Given the description of an element on the screen output the (x, y) to click on. 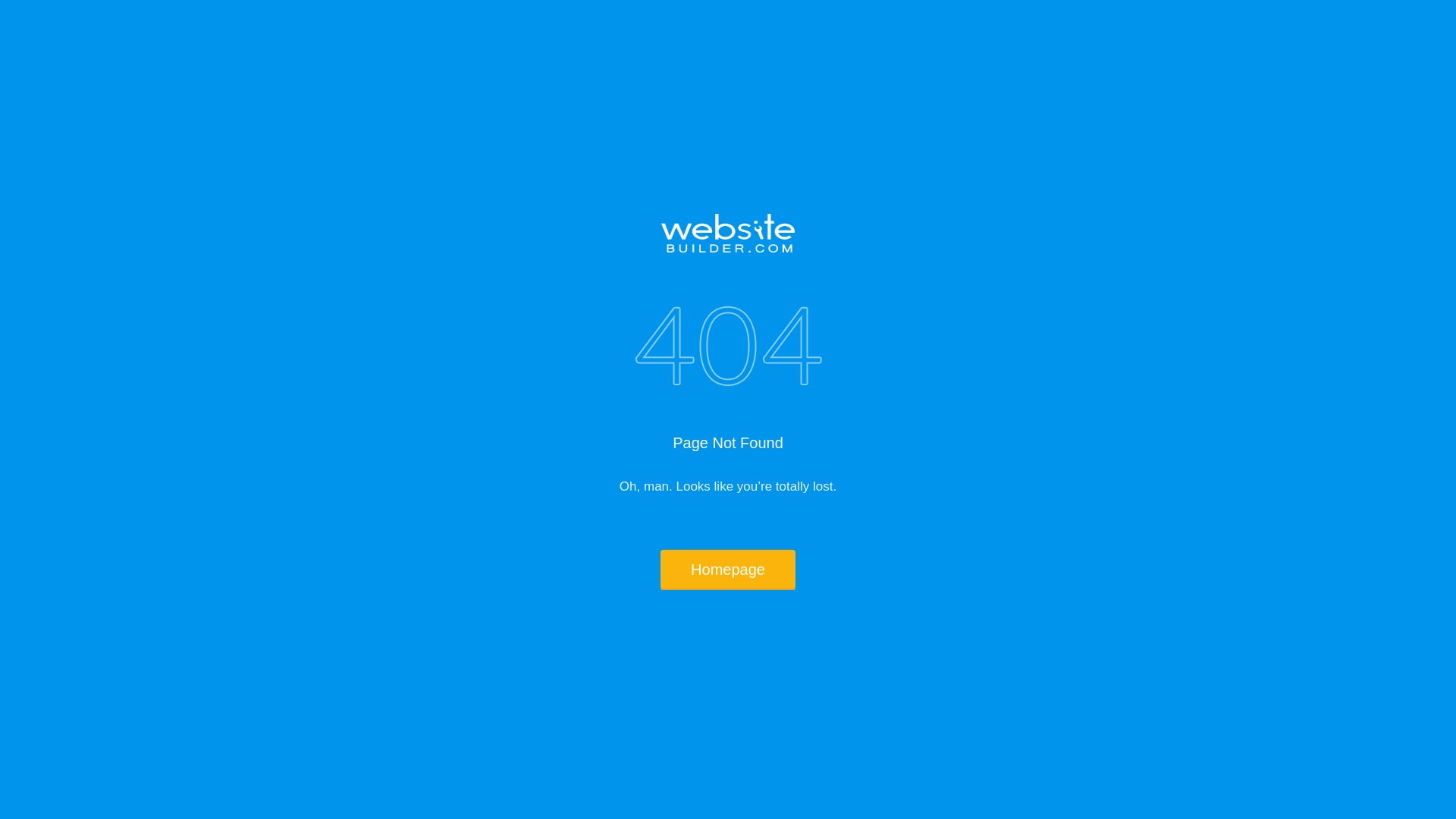
Homepage Element type: text (727, 569)
